Given the description of an element on the screen output the (x, y) to click on. 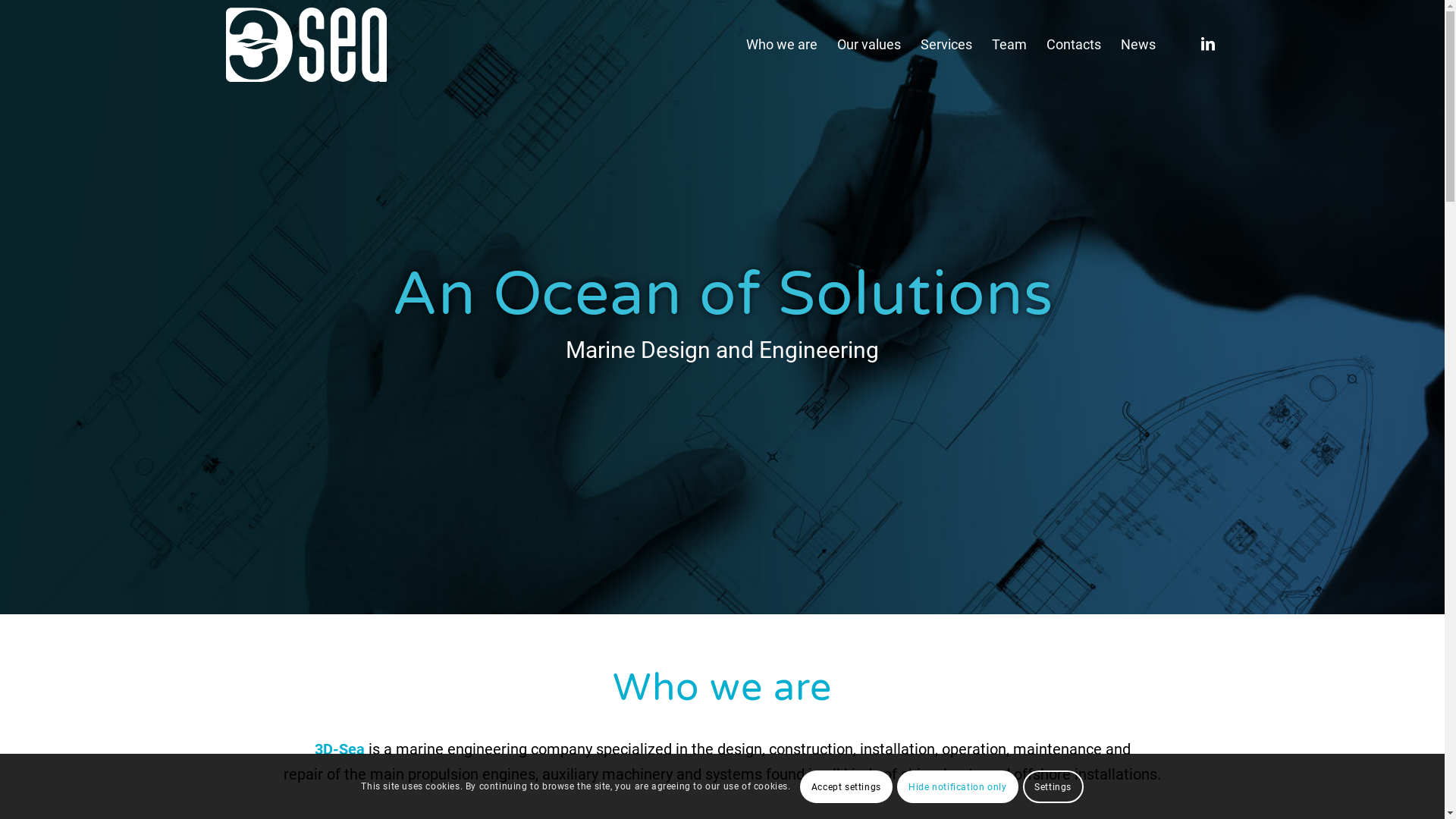
News Element type: text (1137, 44)
Services Element type: text (945, 44)
Hide notification only Element type: text (957, 786)
Settings Element type: text (1052, 786)
Who we are Element type: text (780, 44)
Accept settings Element type: text (846, 786)
Our values Element type: text (868, 44)
info@3d-sea.com Element type: text (284, 438)
Privacy Policy Element type: text (585, 768)
LinkedIn Element type: hover (1207, 43)
Team Element type: text (1008, 44)
Contacts Element type: text (1072, 44)
Submit Element type: text (630, 650)
Privacy Policy Element type: text (939, 598)
